Given the description of an element on the screen output the (x, y) to click on. 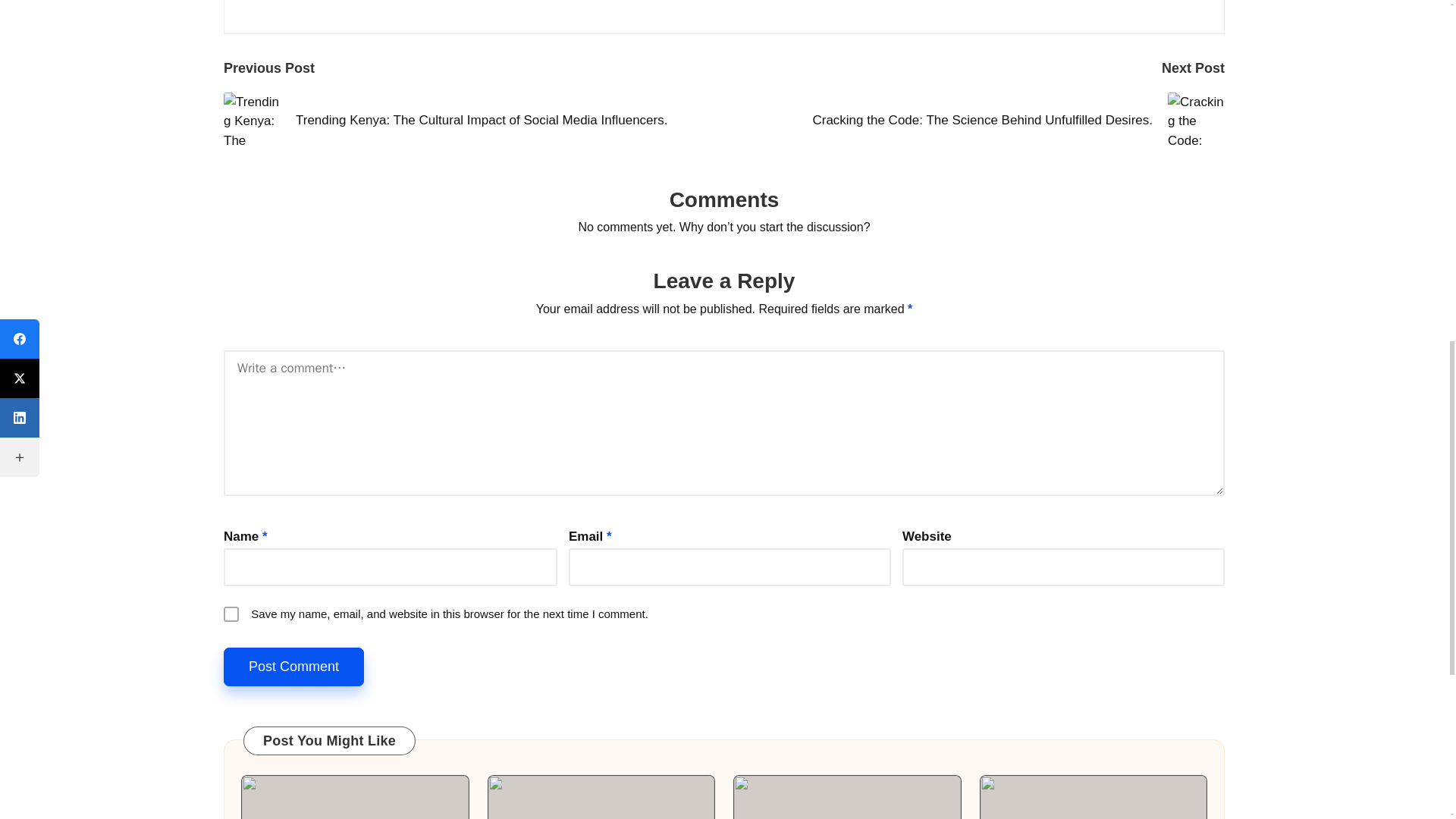
yes (231, 613)
Post Comment (294, 666)
Cracking the Code: The Science Behind Unfulfilled Desires. (973, 120)
Post Comment (294, 666)
